Given the description of an element on the screen output the (x, y) to click on. 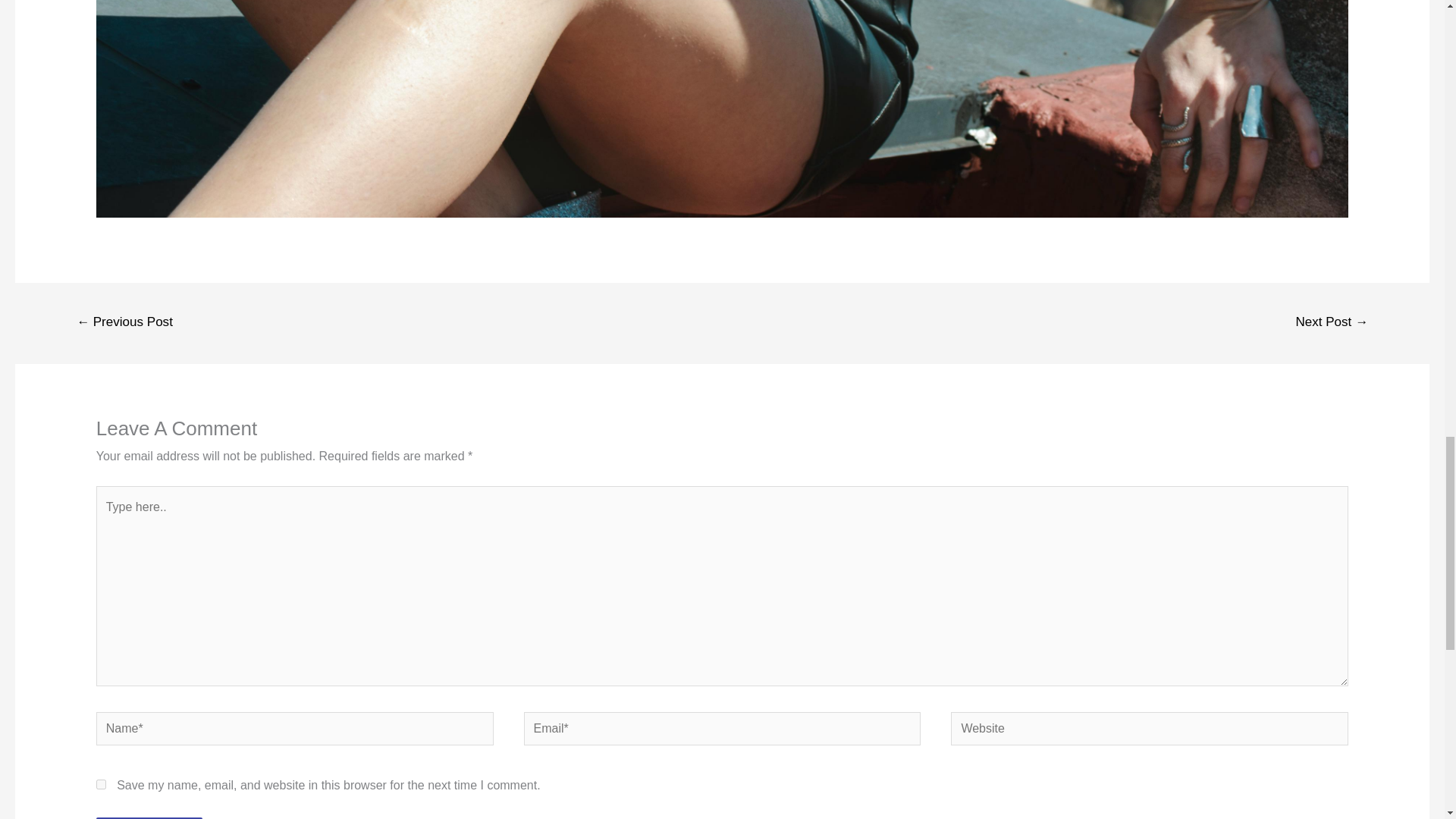
yes (101, 784)
